Given the description of an element on the screen output the (x, y) to click on. 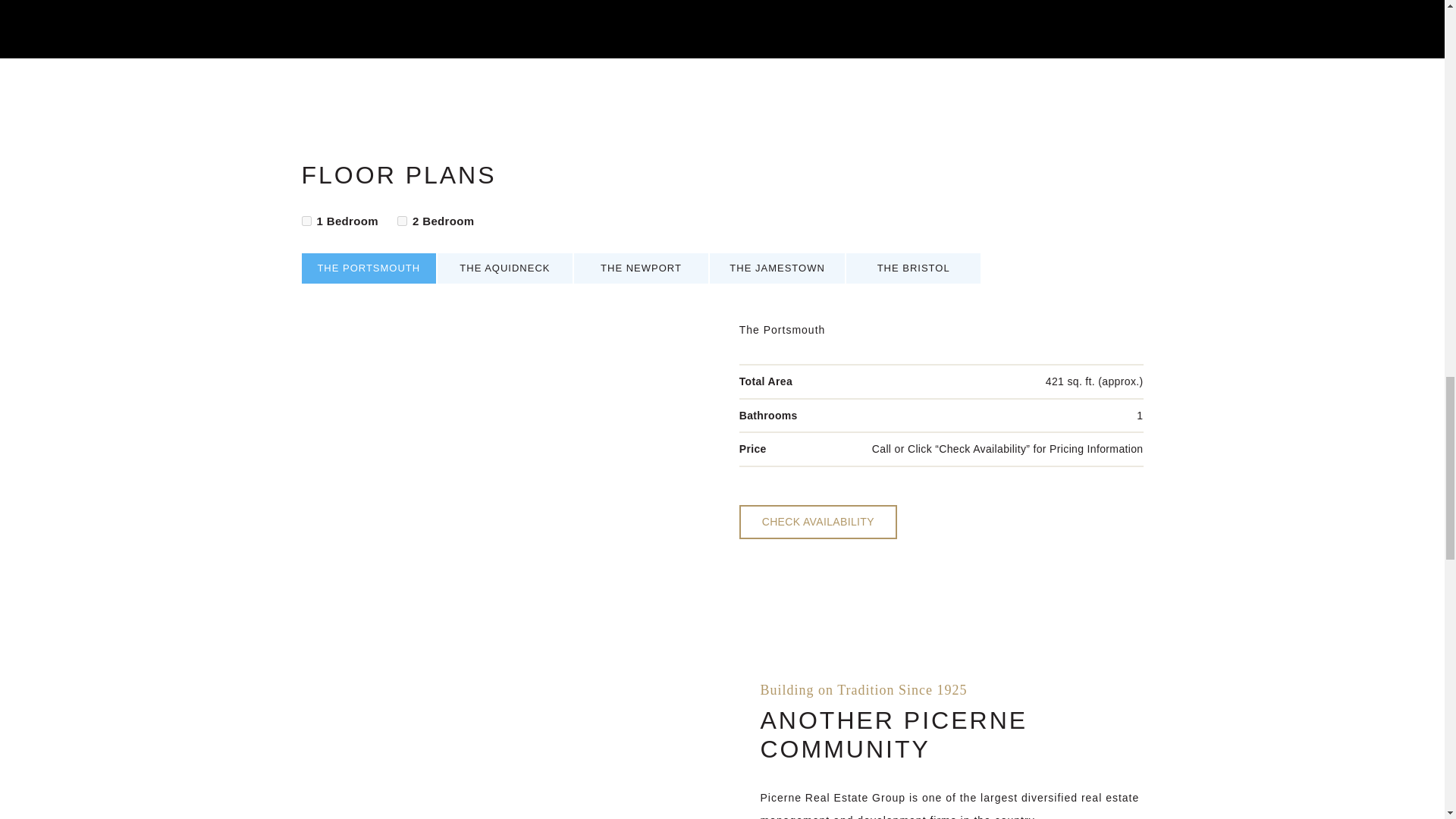
CHECK AVAILABILITY (817, 521)
bedrooms-1 (306, 221)
bedrooms-2 (402, 221)
